Given the description of an element on the screen output the (x, y) to click on. 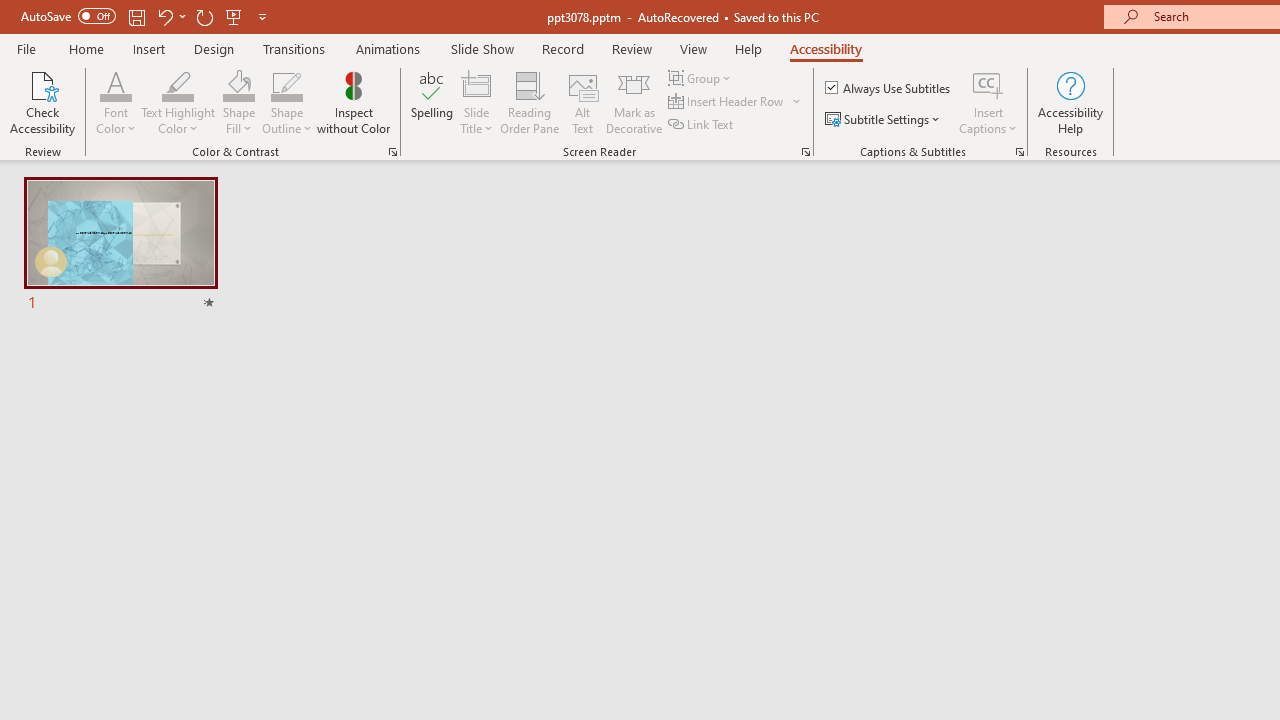
Reading Order Pane (529, 102)
Slide Title (476, 102)
Insert Header Row (735, 101)
